Given the description of an element on the screen output the (x, y) to click on. 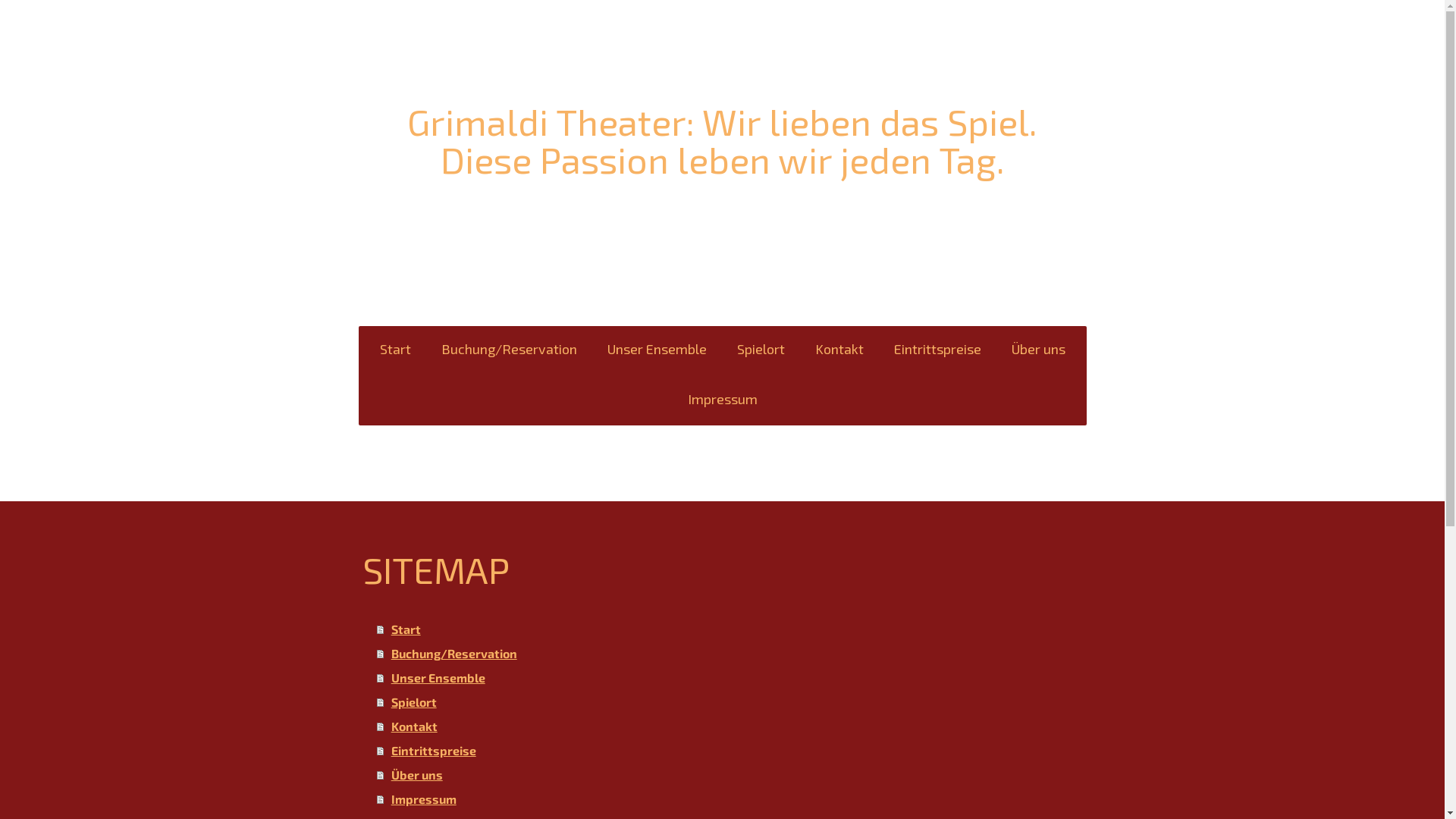
Eintrittspreise Element type: text (936, 351)
Spielort Element type: text (760, 351)
Buchung/Reservation Element type: text (730, 653)
Unser Ensemble Element type: text (730, 677)
Spielort Element type: text (730, 702)
Impressum Element type: text (721, 401)
Kontakt Element type: text (730, 726)
Start Element type: text (394, 351)
Start Element type: text (730, 629)
Buchung/Reservation Element type: text (509, 351)
Eintrittspreise Element type: text (730, 750)
Unser Ensemble Element type: text (656, 351)
Kontakt Element type: text (838, 351)
Impressum Element type: text (730, 799)
